Given the description of an element on the screen output the (x, y) to click on. 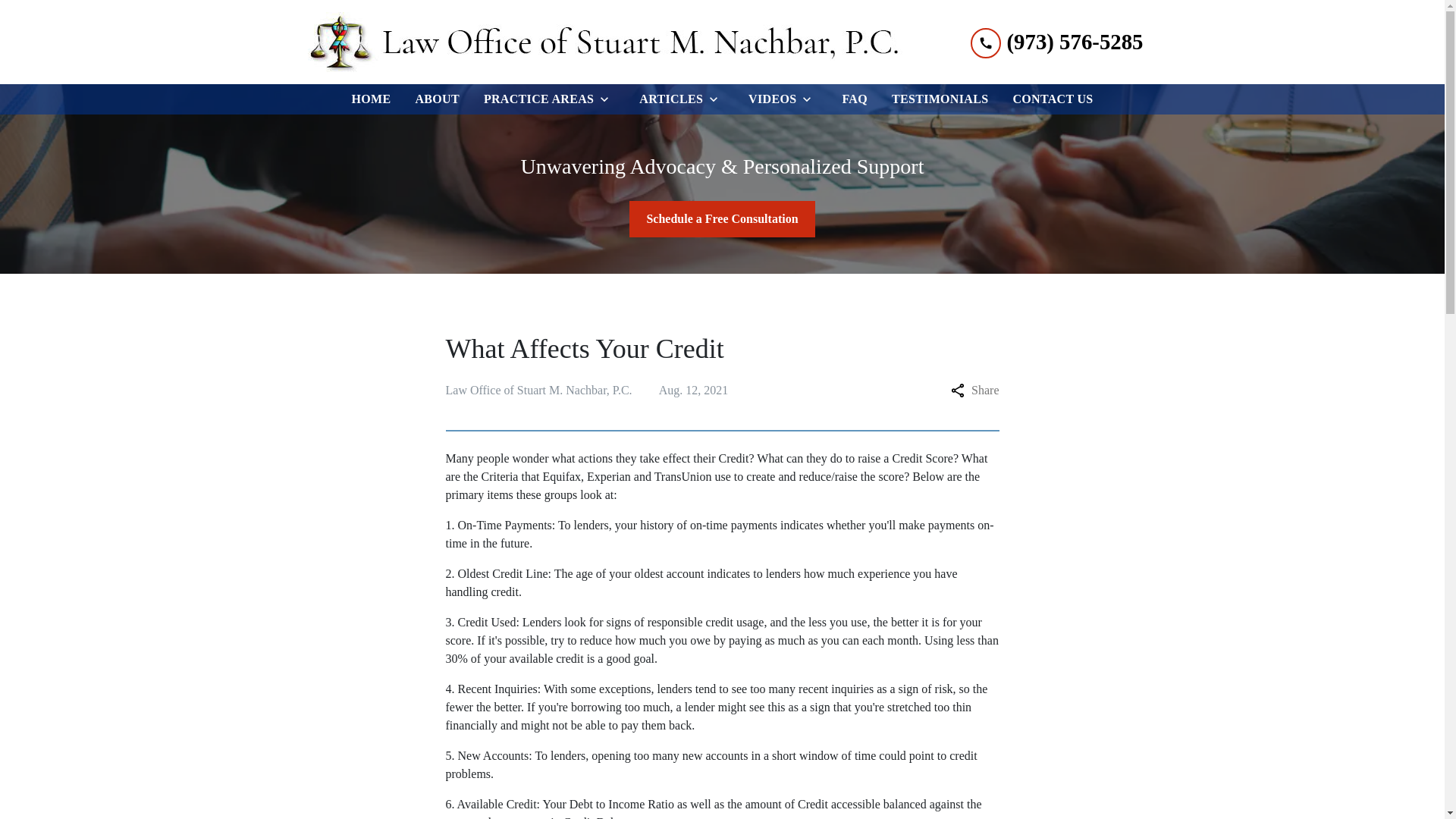
ARTICLES (668, 99)
HOME (370, 99)
PRACTICE AREAS (535, 99)
VIDEOS (769, 99)
ABOUT (437, 99)
